Given the description of an element on the screen output the (x, y) to click on. 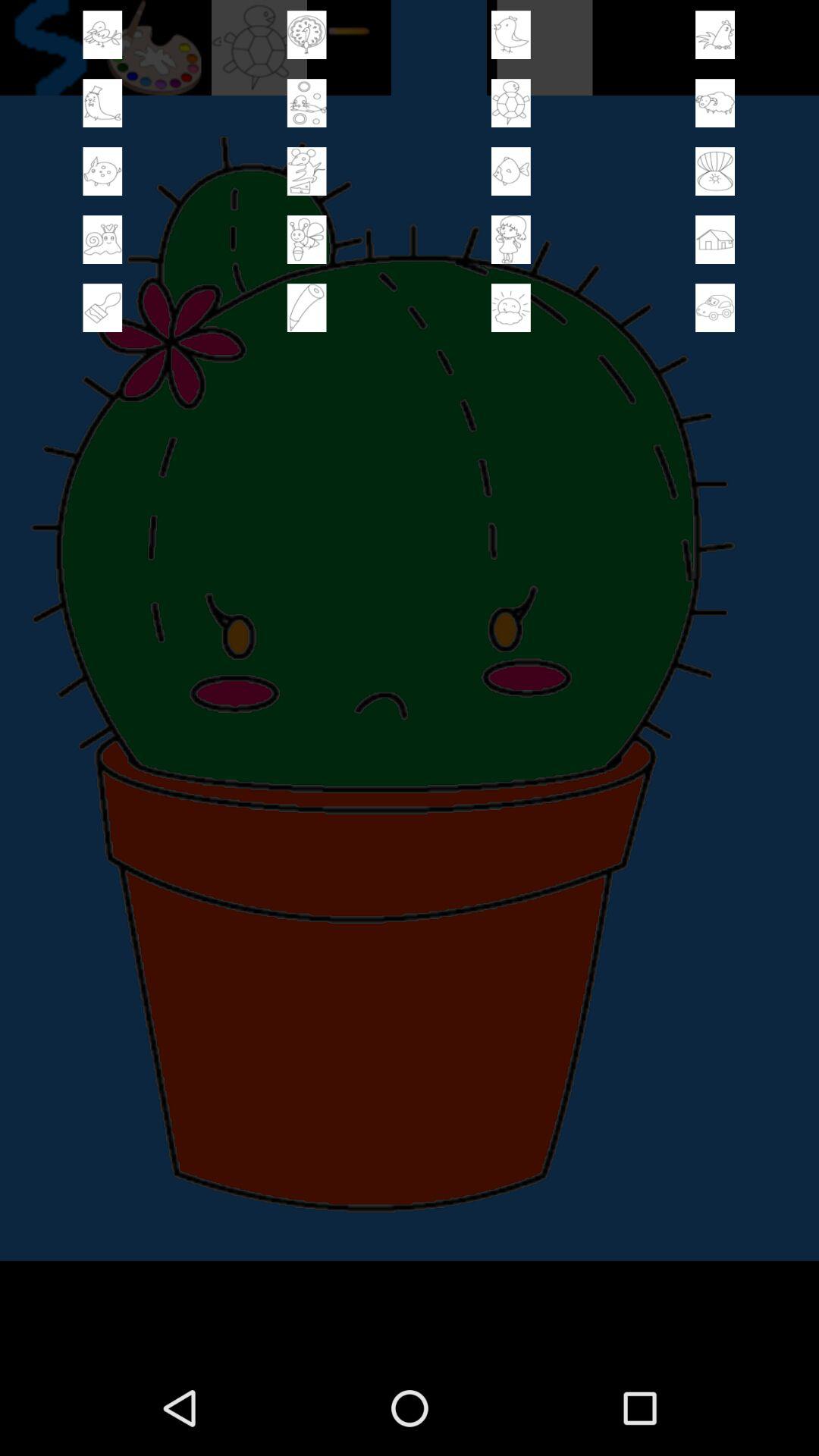
add sticker (510, 239)
